Given the description of an element on the screen output the (x, y) to click on. 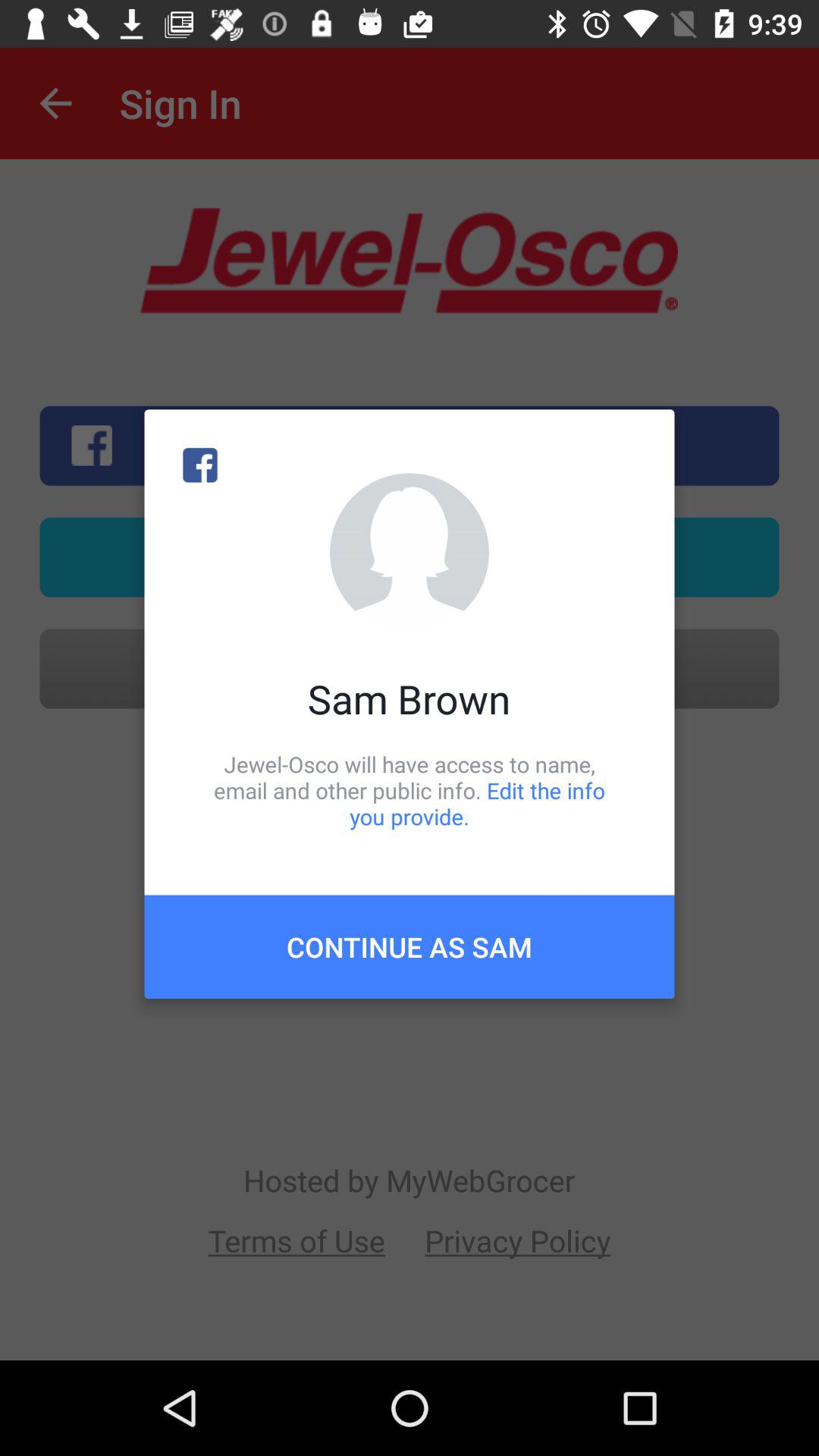
swipe until continue as sam (409, 946)
